Given the description of an element on the screen output the (x, y) to click on. 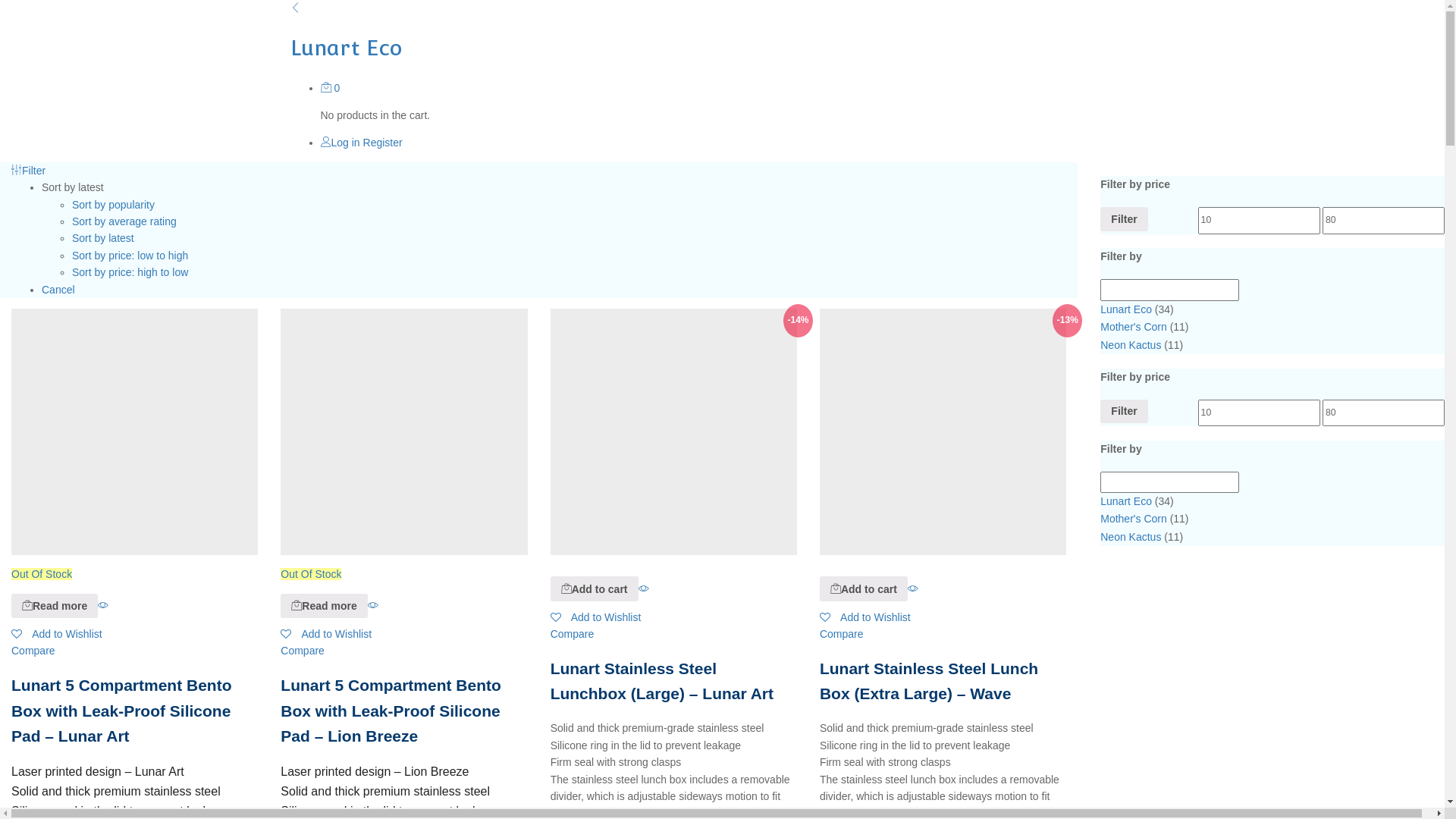
Lunart Eco Element type: text (721, 33)
Sort by price: low to high Element type: text (130, 255)
Log in Element type: text (339, 142)
Register Element type: text (382, 142)
0 Element type: text (329, 87)
Sort by price: high to low Element type: text (130, 272)
Read more Element type: hover (26, 604)
Lunart Eco Element type: text (1125, 309)
Add to Wishlist Element type: text (56, 633)
Filter Element type: text (28, 170)
Quick View Element type: hover (912, 588)
Sort by popularity Element type: text (113, 204)
Add to cart Element type: text (594, 588)
Neon Kactus Element type: text (1130, 344)
Quick View Element type: hover (102, 604)
Quick View Element type: hover (372, 604)
Lunart Eco Element type: text (1125, 501)
Filter Element type: text (1124, 219)
Add to Wishlist Element type: text (864, 617)
Add to cart Element type: hover (835, 588)
-13% Element type: text (942, 431)
Mother's Corn Element type: text (1133, 518)
Read more Element type: text (323, 605)
Add to cart Element type: text (863, 588)
Add to Wishlist Element type: text (325, 633)
Read more Element type: text (54, 605)
Add to cart Element type: hover (566, 588)
Out Of Stock Element type: text (134, 444)
Compare Element type: text (572, 633)
Quick View Element type: hover (643, 588)
Mother's Corn Element type: text (1133, 326)
Compare Element type: text (841, 633)
Add to Wishlist Element type: text (595, 617)
Compare Element type: text (302, 650)
Sort by latest Element type: text (103, 238)
Neon Kactus Element type: text (1130, 536)
Filter Element type: text (1124, 411)
-14% Element type: text (673, 431)
Sort by average rating Element type: text (124, 221)
Out Of Stock Element type: text (403, 444)
Read more Element type: hover (296, 604)
Compare Element type: text (33, 650)
Cancel Element type: text (58, 289)
